Given the description of an element on the screen output the (x, y) to click on. 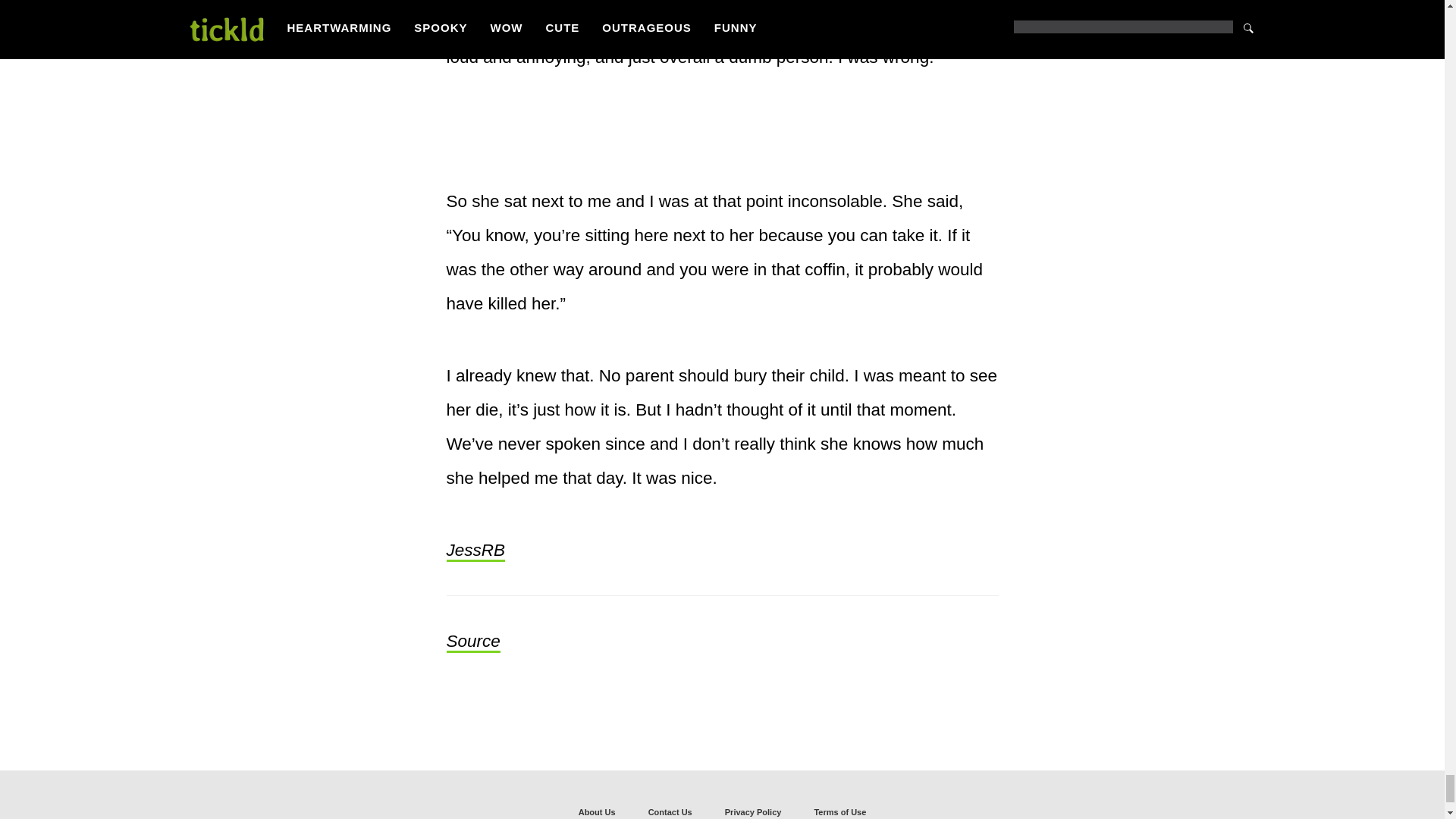
JessRB (475, 550)
Source (472, 641)
